Given the description of an element on the screen output the (x, y) to click on. 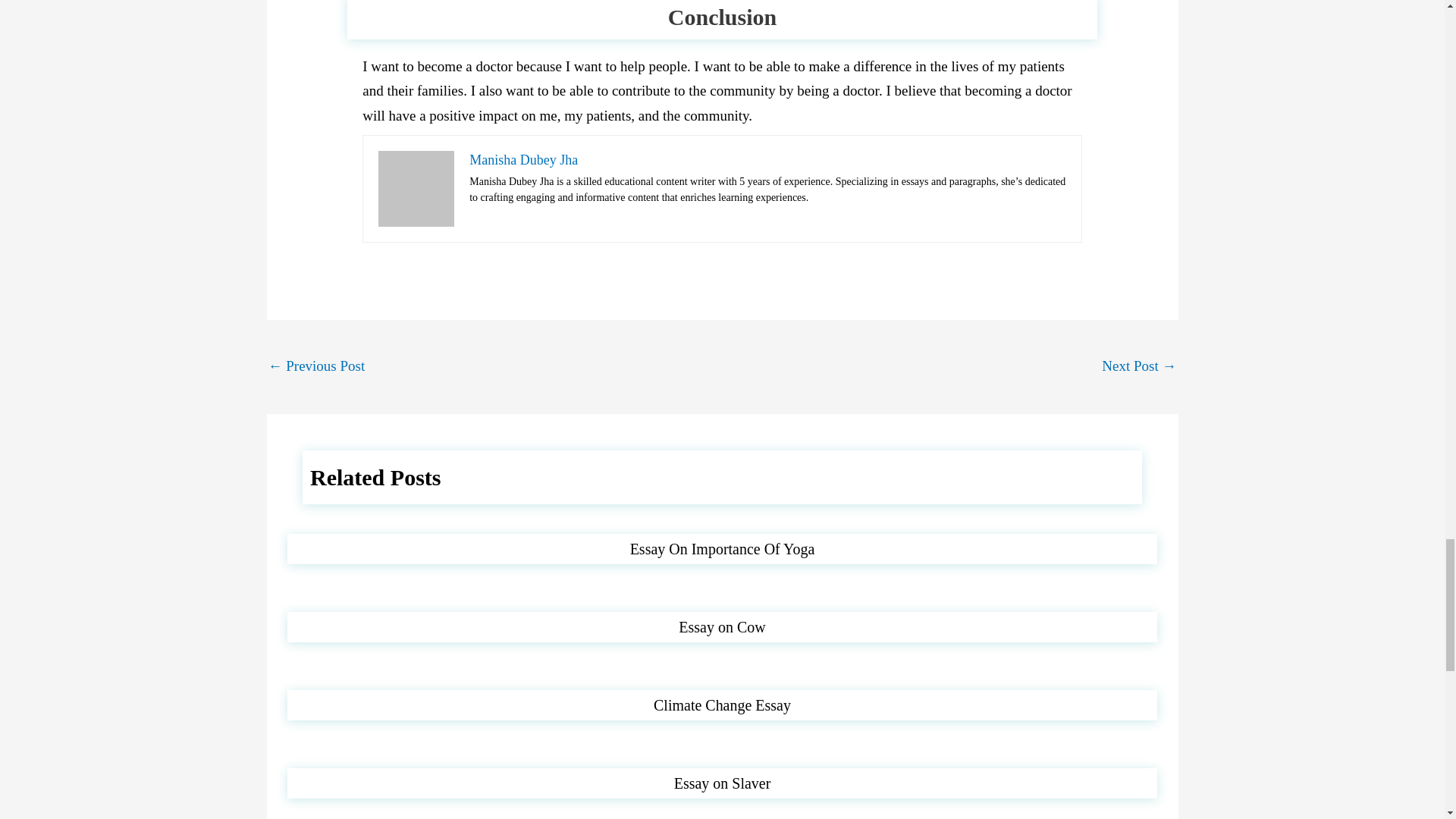
Essay on Slaver (722, 782)
Essay on International Women's Day (1139, 367)
Essay on Cow (721, 627)
Essay on My First Day Of School (316, 367)
Manisha Dubey Jha (523, 159)
Essay On Importance Of Yoga (722, 548)
Climate Change Essay (721, 704)
